Given the description of an element on the screen output the (x, y) to click on. 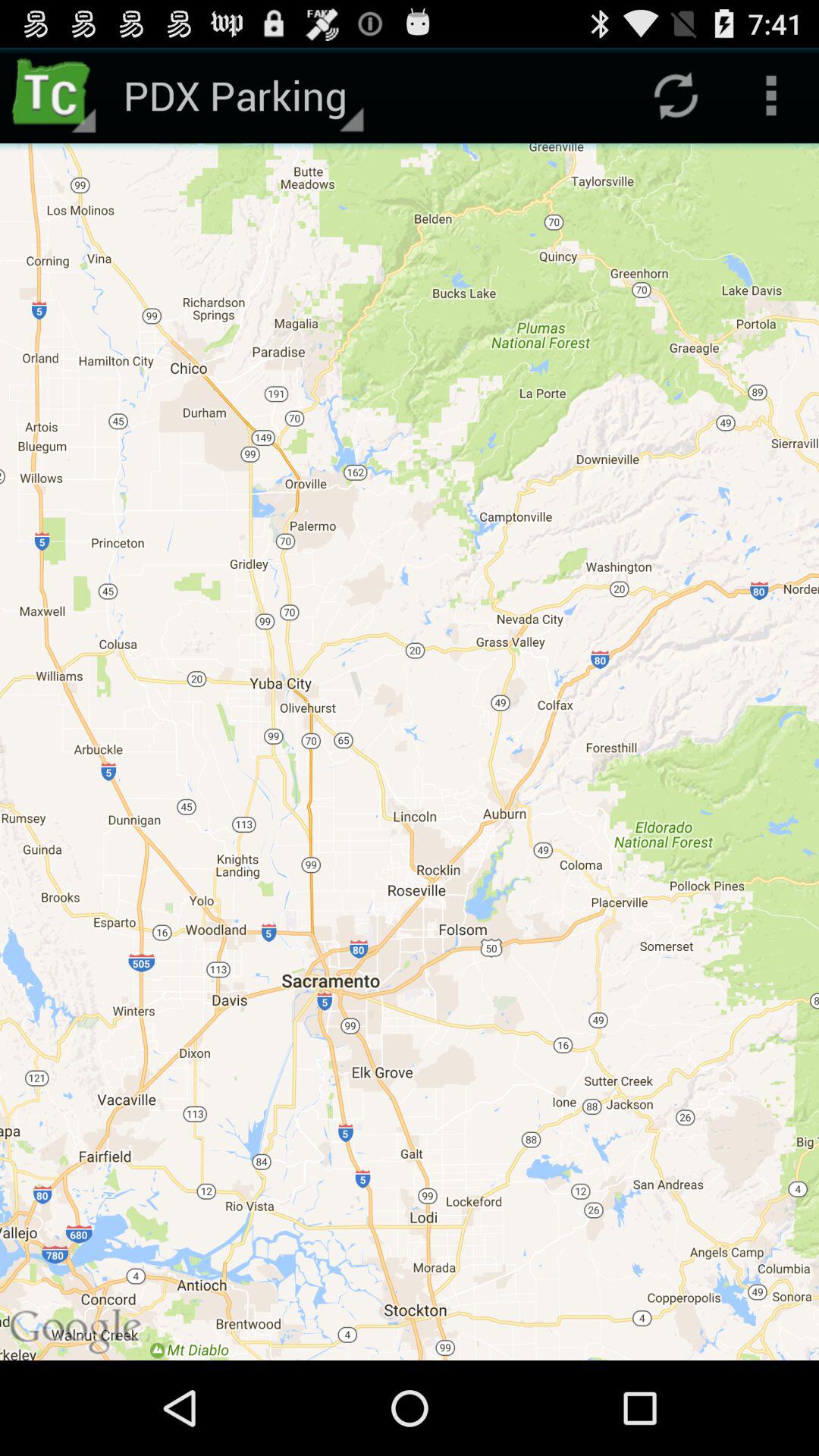
jump until pdx parking app (241, 95)
